Given the description of an element on the screen output the (x, y) to click on. 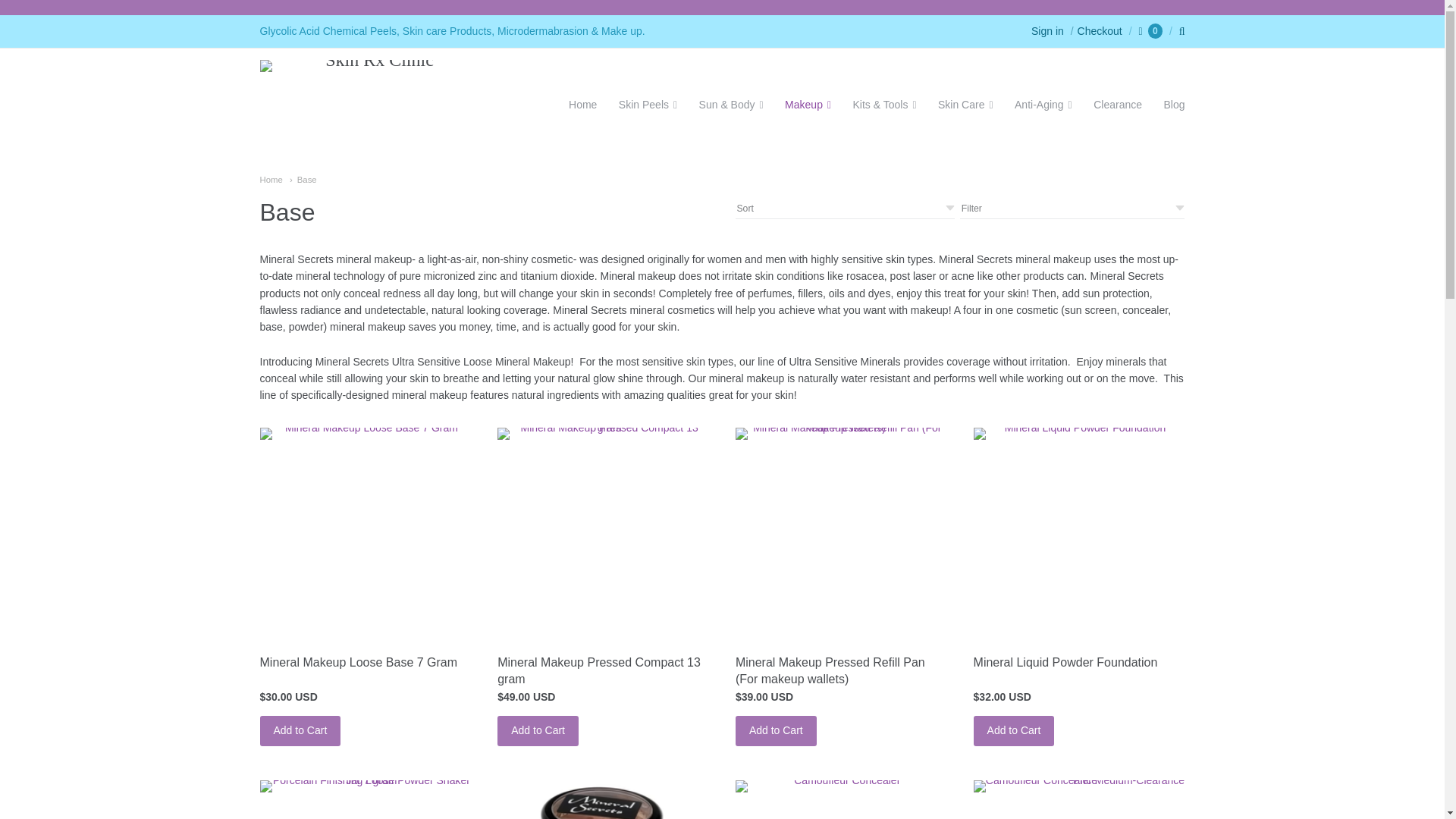
Mineral Liquid Powder Foundation (1065, 662)
0 (1149, 30)
Mineral Makeup Loose Base 7 Gram (364, 497)
Makeup (808, 105)
Sign in (1047, 30)
Home (270, 179)
Skin Rx Clinic (372, 104)
Mineral Makeup Pressed Compact 13 gram (603, 533)
Mineral Makeup Loose Base 7 Gram (358, 662)
Mineral Makeup Pressed Compact 13 gram (598, 670)
